Given the description of an element on the screen output the (x, y) to click on. 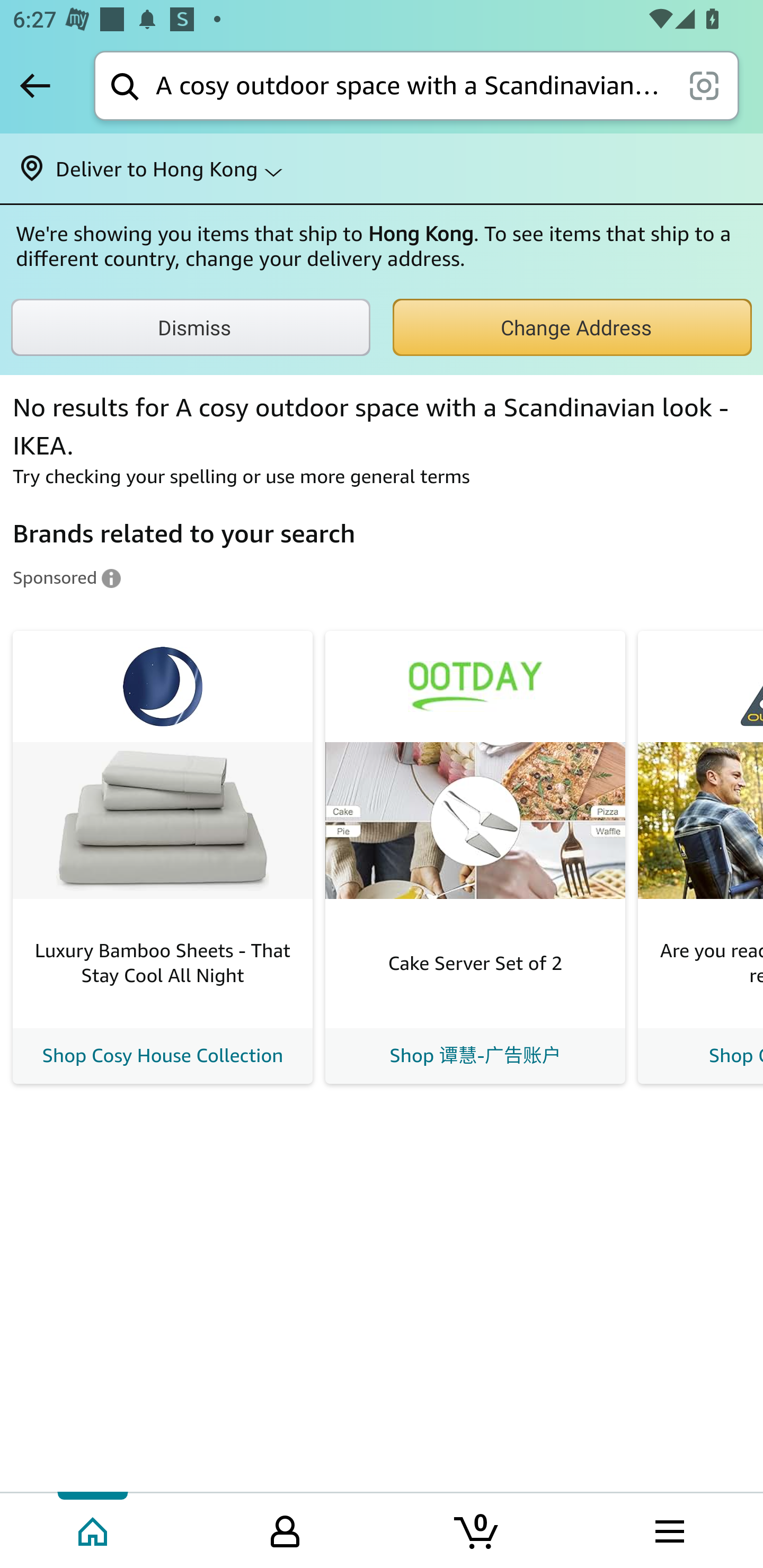
Back (35, 85)
scan it (704, 85)
Deliver to Hong Kong ⌵ (381, 168)
Dismiss (190, 327)
Change Address (571, 327)
Leave feedback on Sponsored ad (67, 577)
Home Tab 1 of 4 (94, 1529)
Your Amazon.com Tab 2 of 4 (285, 1529)
Cart 0 item Tab 3 of 4 0 (477, 1529)
Browse menu Tab 4 of 4 (668, 1529)
